Given the description of an element on the screen output the (x, y) to click on. 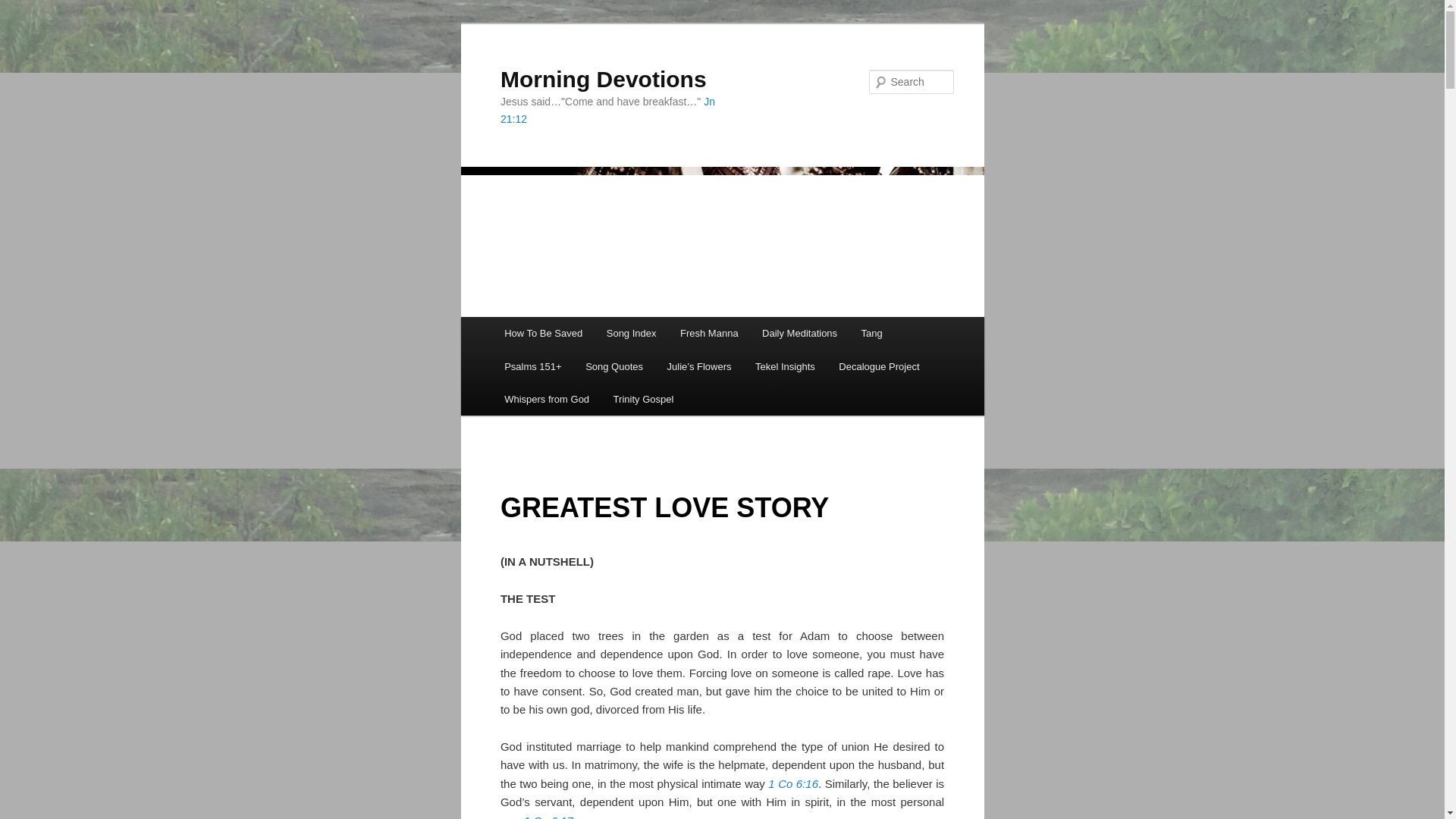
Song Index (631, 332)
1 Co 6:17 (548, 816)
Daily Meditations (798, 332)
Whispers from God (545, 399)
Tang (871, 332)
Morning Devotions (603, 78)
Search (24, 8)
Jn 21:12 (607, 110)
Decalogue Project (879, 366)
How To Be Saved (543, 332)
Trinity Gospel (643, 399)
1 Co 6:16 (793, 783)
Fresh Manna (708, 332)
Song Quotes (613, 366)
